Given the description of an element on the screen output the (x, y) to click on. 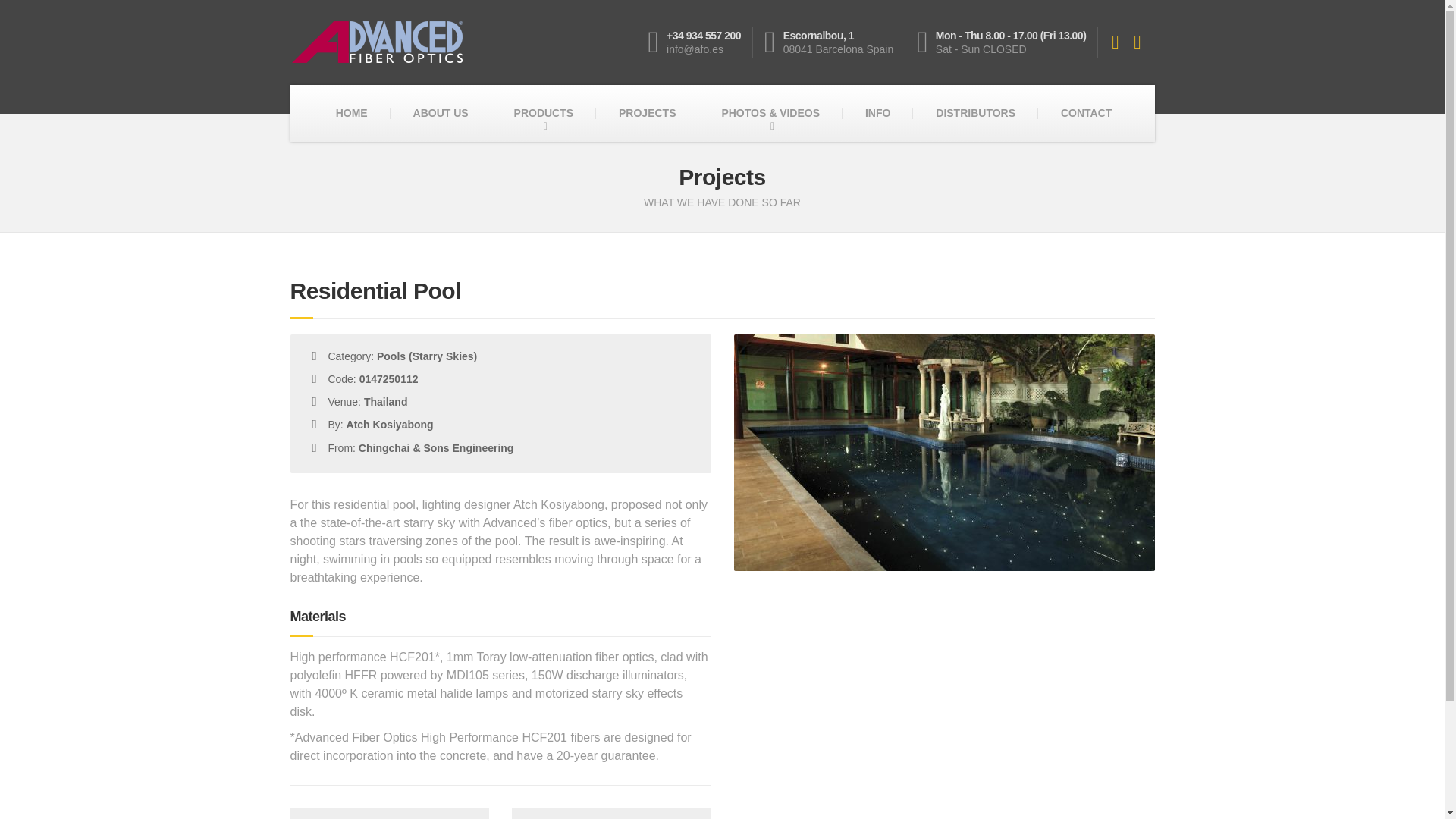
NEXT PROJECT (611, 813)
DISTRIBUTORS (975, 113)
PROJECTS (646, 113)
INFO (877, 113)
PRODUCTS (834, 42)
PREVIOUS PROJECT (544, 113)
CONTACT (389, 813)
HOME (1086, 113)
ABOUT US (351, 113)
